Given the description of an element on the screen output the (x, y) to click on. 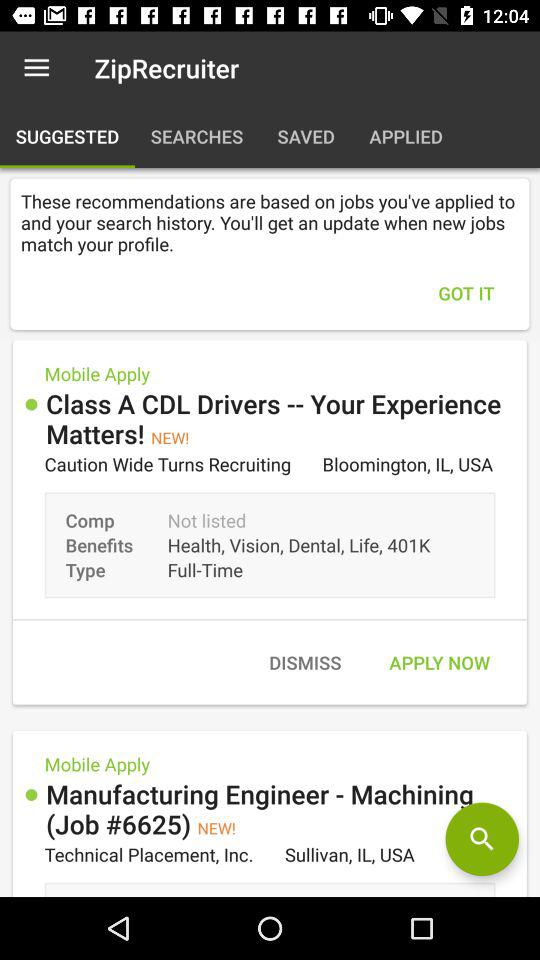
search engine (482, 839)
